Given the description of an element on the screen output the (x, y) to click on. 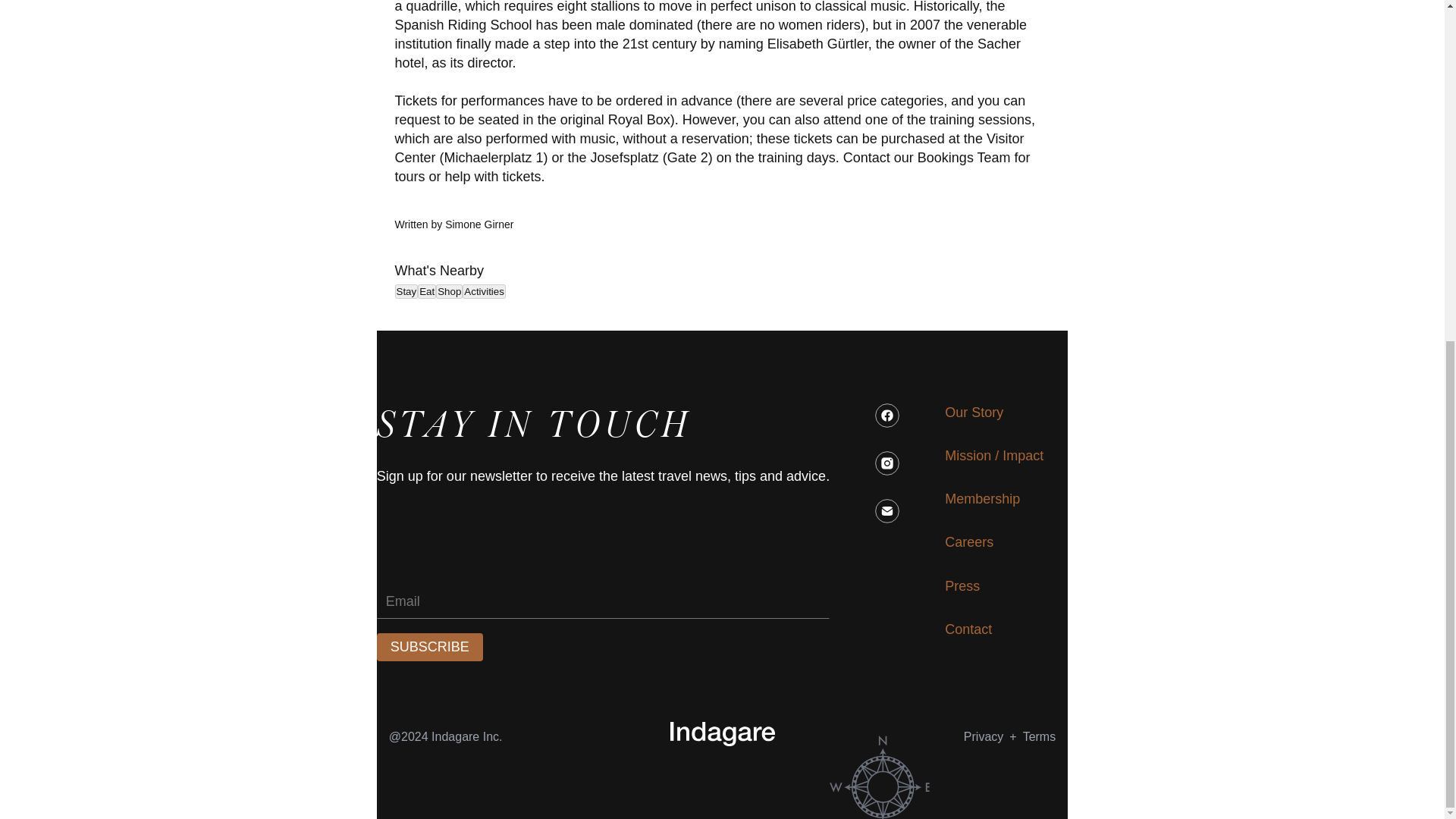
Our Story (973, 412)
Eat (426, 291)
Activities (484, 291)
Membership (982, 498)
SUBSCRIBE (430, 646)
Shop (449, 291)
Stay (405, 291)
Press (961, 586)
Careers (968, 542)
Contact (967, 629)
